Given the description of an element on the screen output the (x, y) to click on. 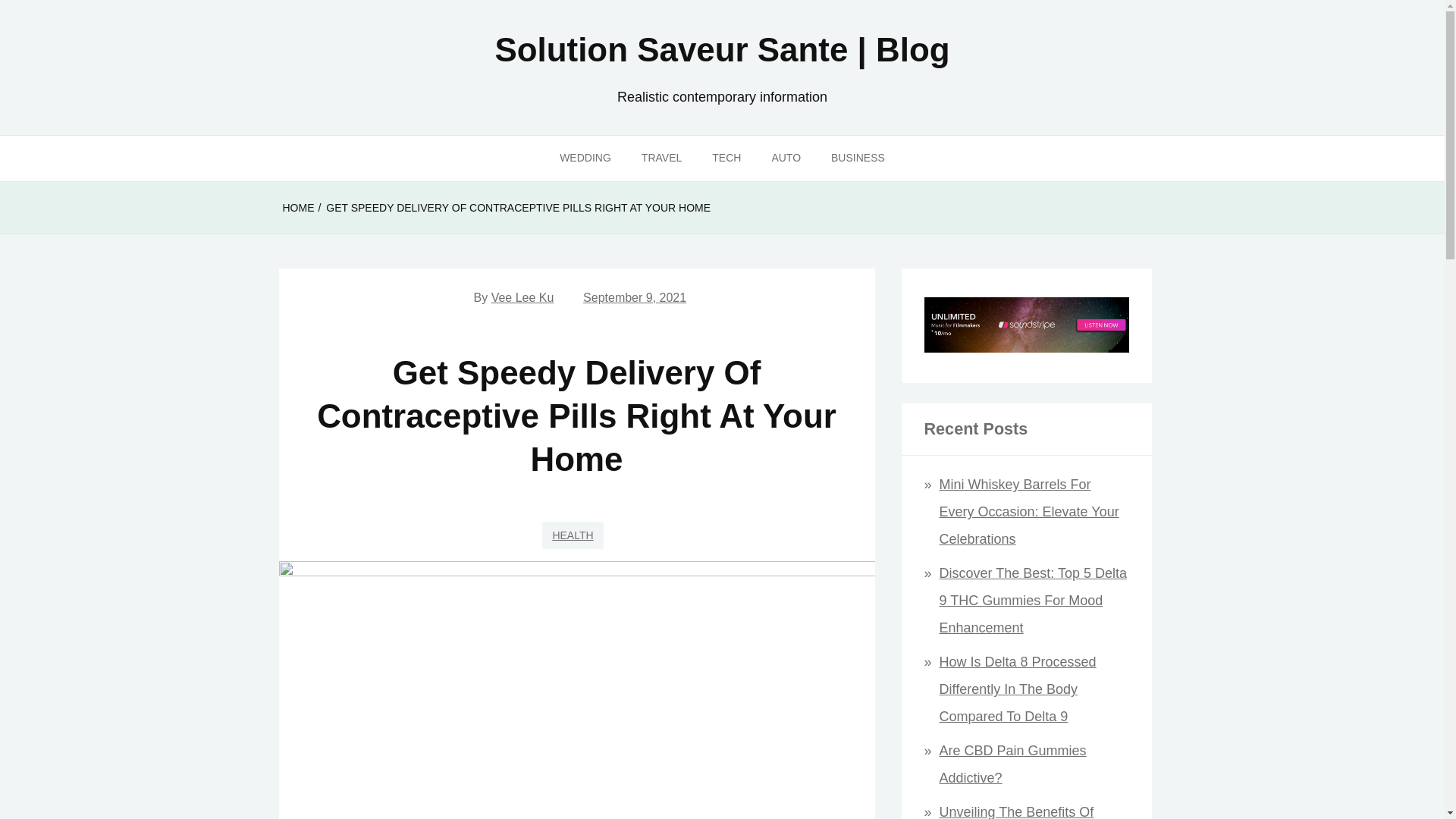
HEALTH (571, 534)
BUSINESS (857, 157)
TRAVEL (661, 157)
HOME (298, 207)
TECH (726, 157)
WEDDING (585, 157)
Vee Lee Ku (523, 297)
September 9, 2021 (634, 297)
